Given the description of an element on the screen output the (x, y) to click on. 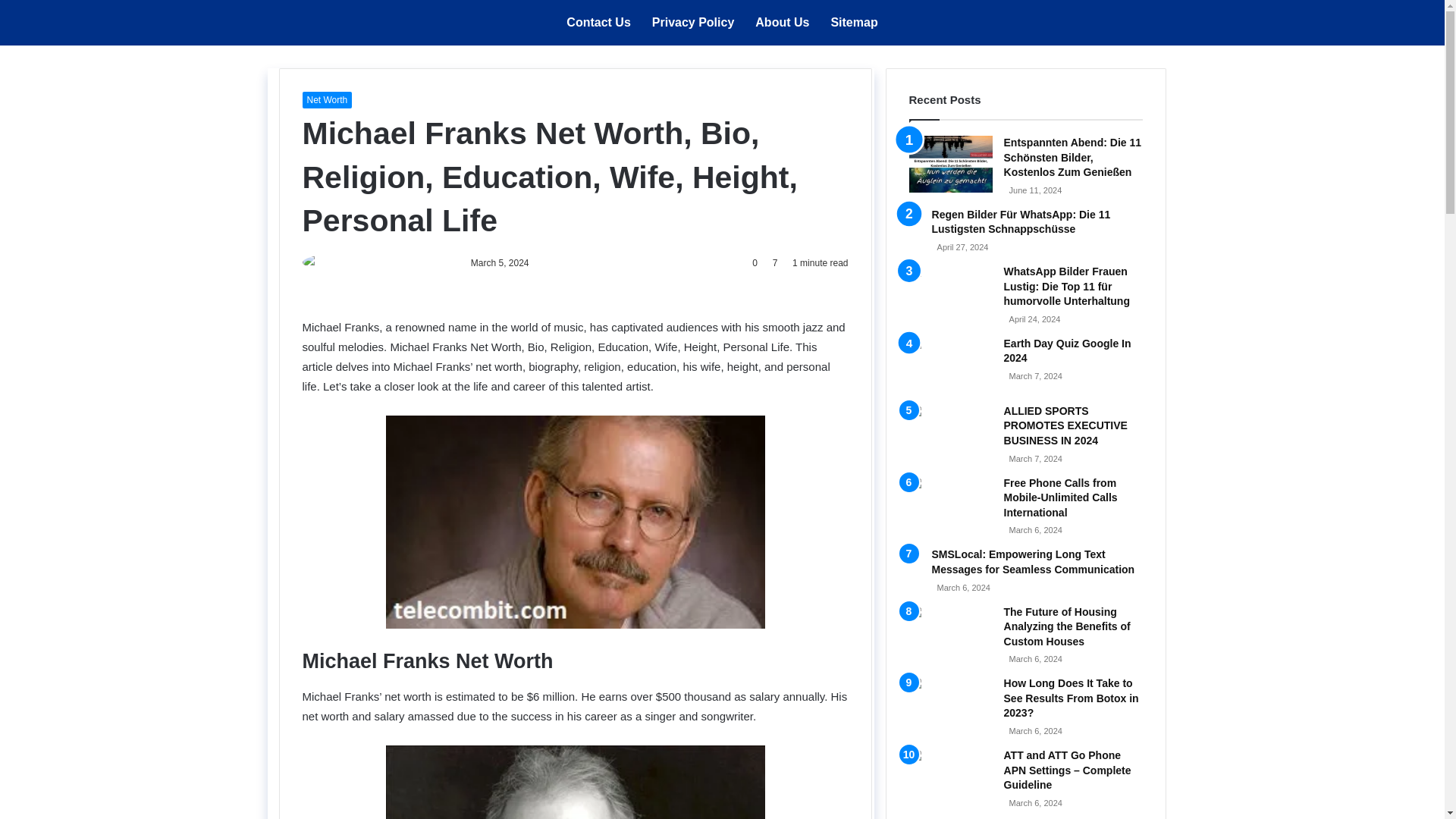
Privacy Policy (693, 22)
Sitemap (853, 22)
Alex Nilson (424, 262)
Net Worth (326, 99)
Contact Us (598, 22)
Alex Nilson (424, 262)
About Us (781, 22)
